Given the description of an element on the screen output the (x, y) to click on. 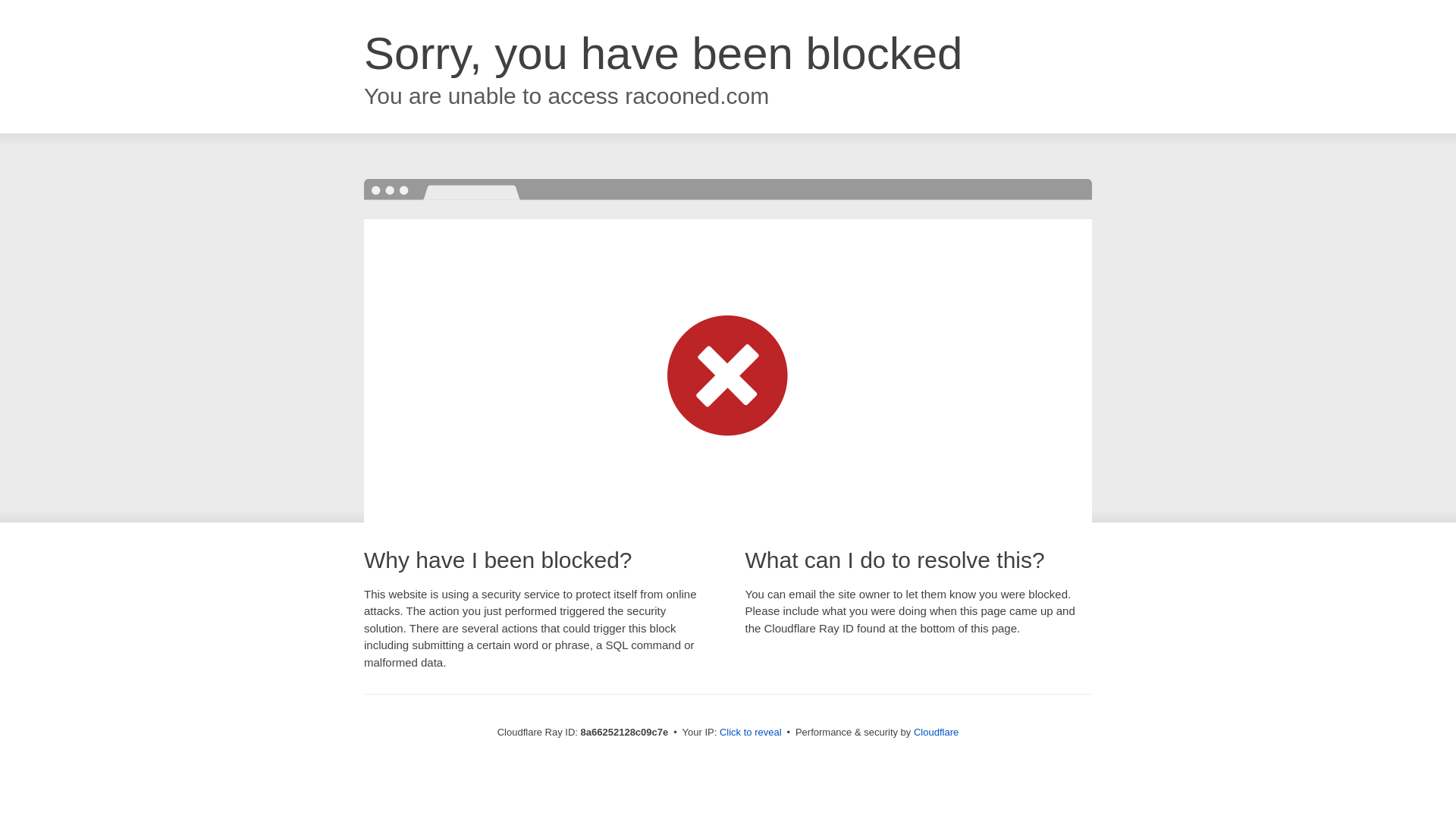
Cloudflare (936, 731)
Click to reveal (750, 732)
